Given the description of an element on the screen output the (x, y) to click on. 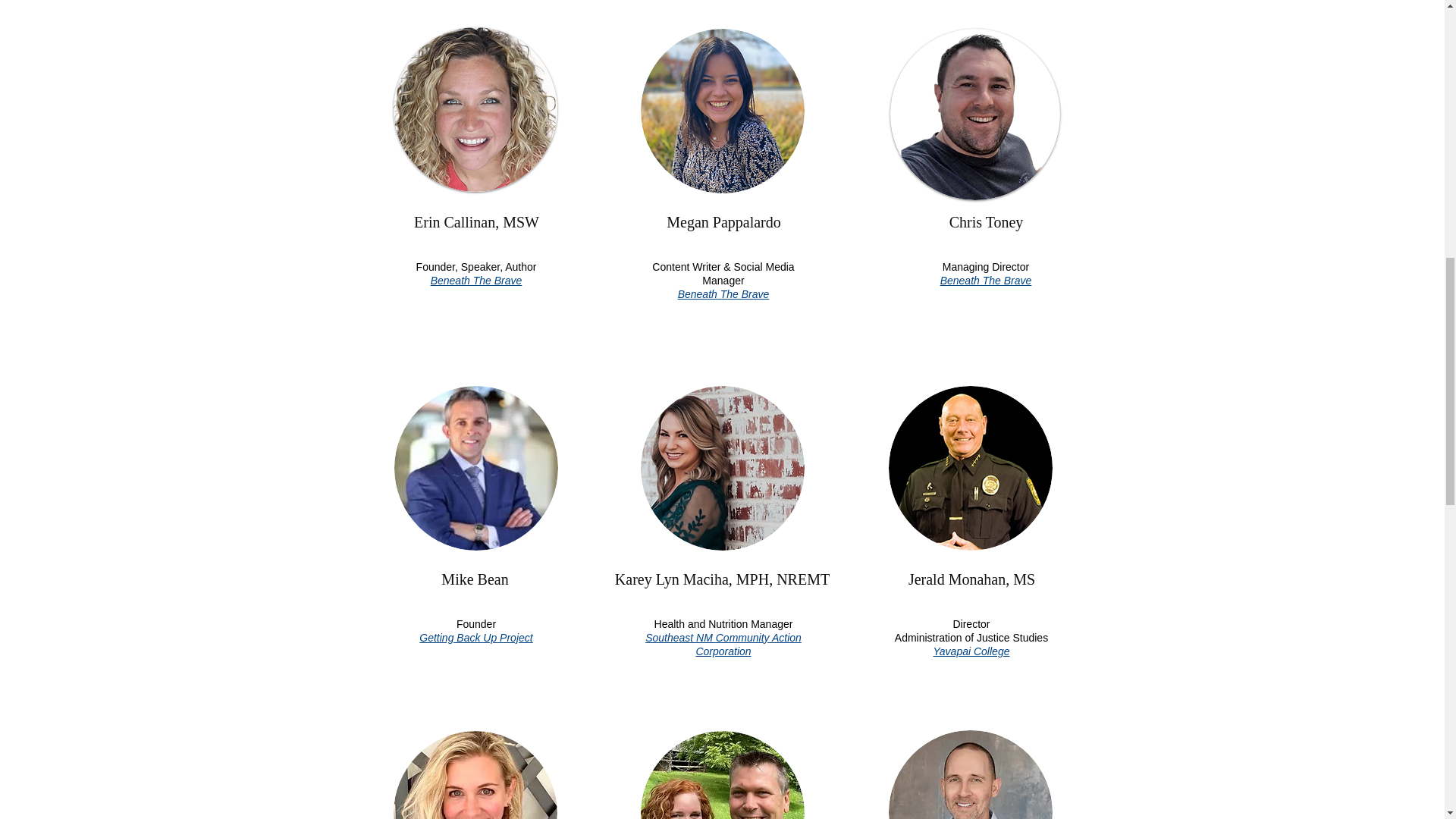
Getting Back Up Project (475, 637)
Beneath The Brave (476, 280)
guy2.jpg (721, 95)
guy2.jpg (970, 95)
guy2.jpg (475, 467)
guy2.jpg (474, 109)
Beneath The Brave (971, 278)
guy2.jpg (970, 774)
Southeast NM Community Action Corporation (723, 644)
guy2.jpg (474, 95)
